Given the description of an element on the screen output the (x, y) to click on. 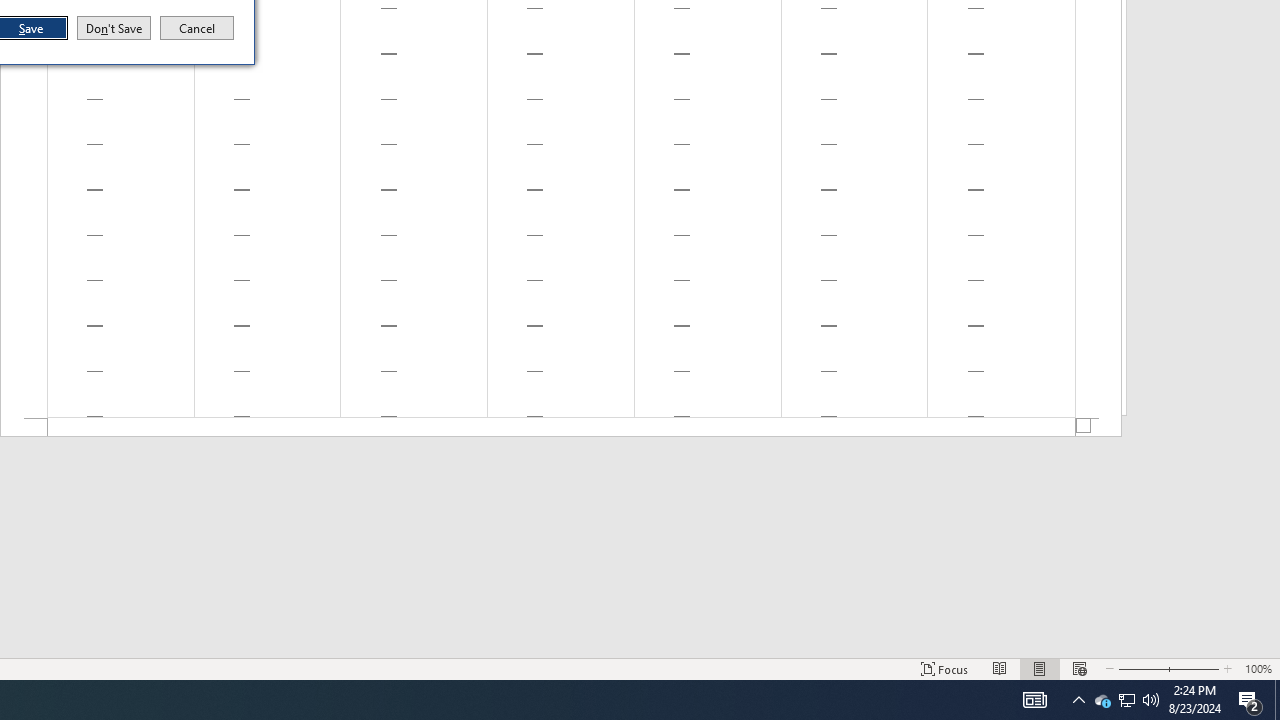
Show desktop (1277, 699)
Action Center, 2 new notifications (1250, 699)
Notification Chevron (1078, 699)
